Given the description of an element on the screen output the (x, y) to click on. 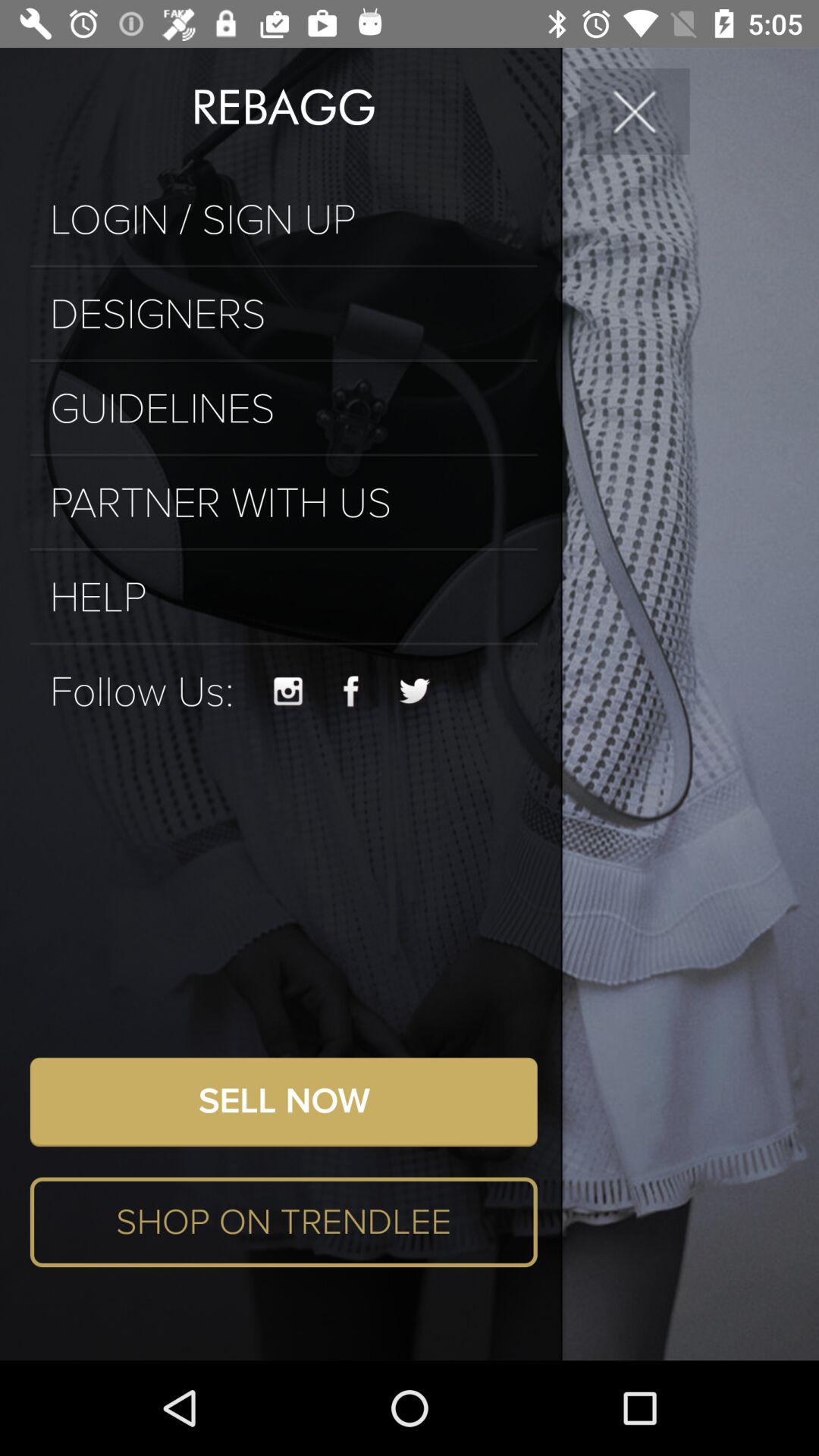
close button (634, 110)
